Given the description of an element on the screen output the (x, y) to click on. 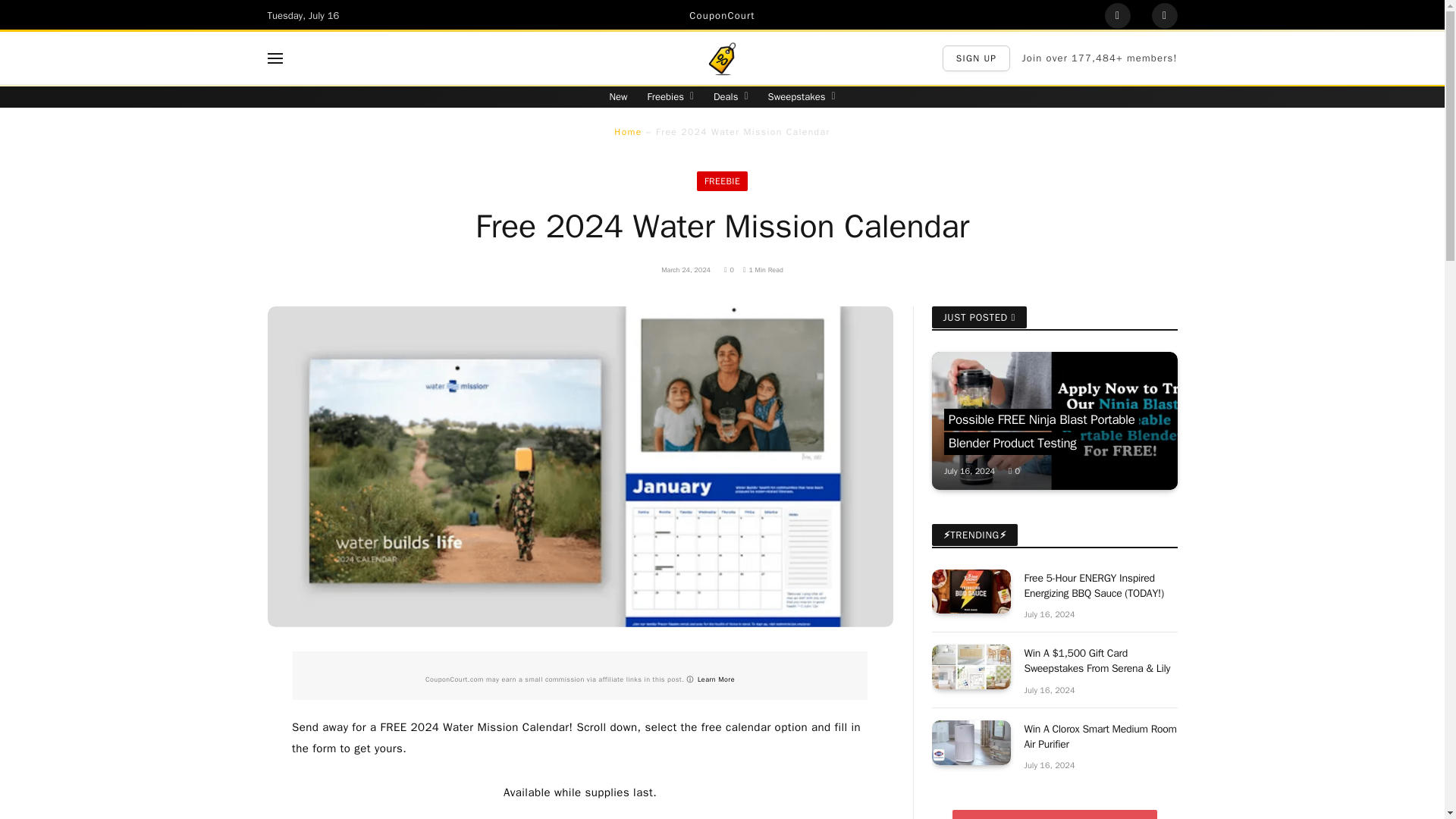
CouponCourt (721, 15)
Click to go to direct link. (1163, 15)
Click to go to direct link. (1116, 15)
